Given the description of an element on the screen output the (x, y) to click on. 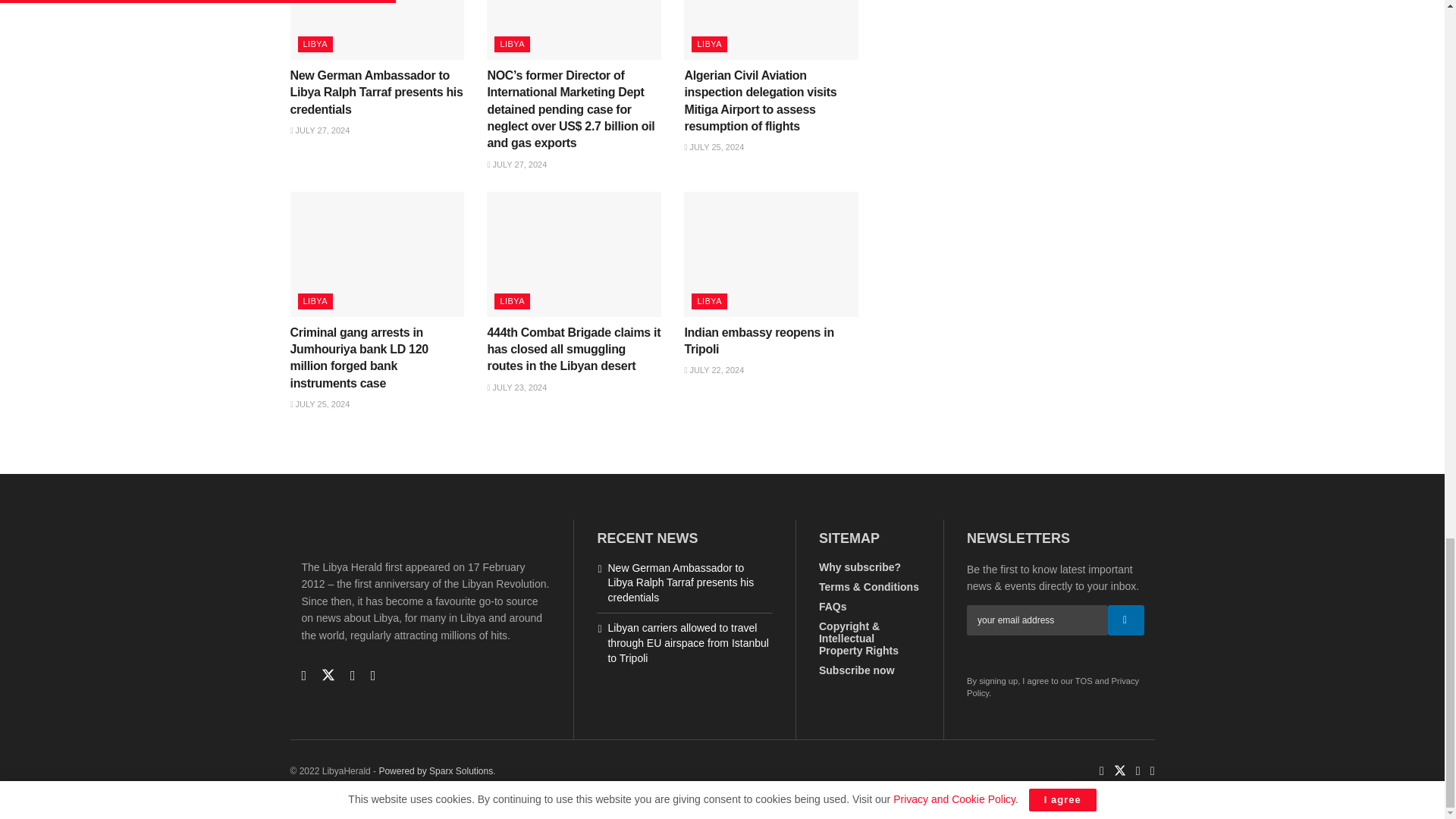
Sparx Solutions (435, 770)
